Given the description of an element on the screen output the (x, y) to click on. 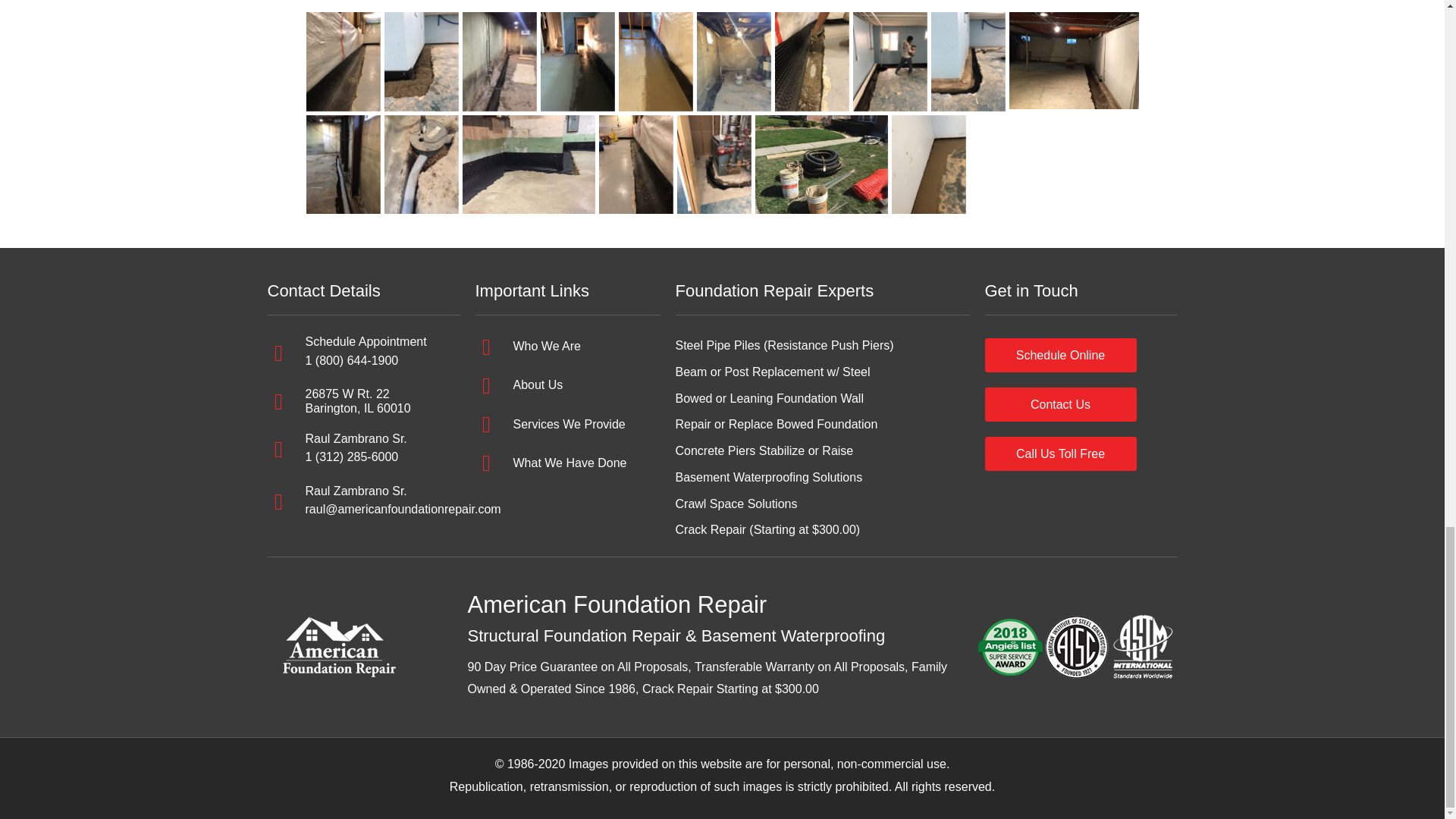
7C33BC25-6984-483B-B6DA-0AF5346F0D8F (1073, 60)
0D0E0266-C9AF-4511-B474-6C54A16DC4F5 (529, 164)
